Given the description of an element on the screen output the (x, y) to click on. 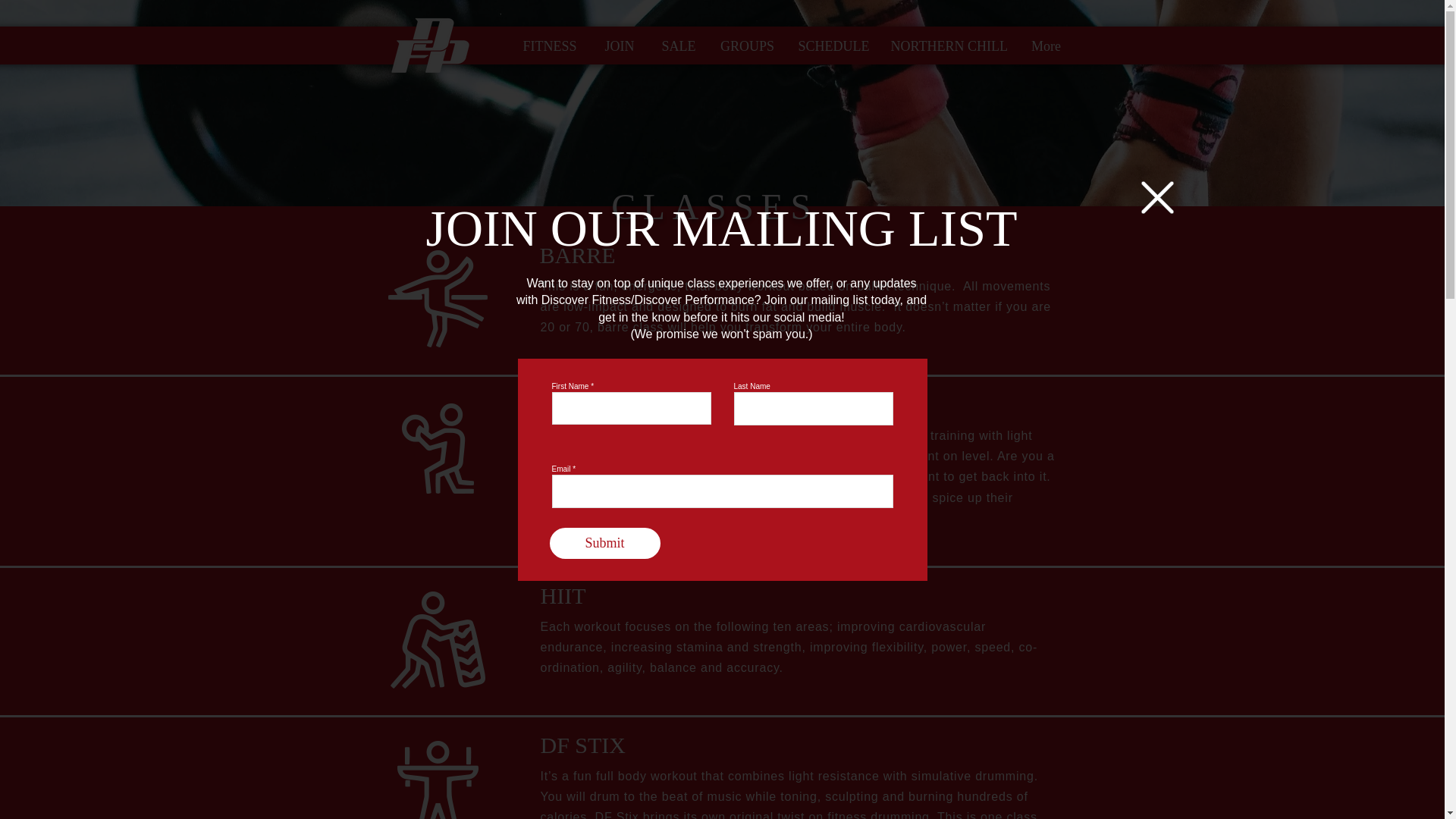
SCHEDULE (831, 46)
NORTHERN CHILL (945, 46)
FITNESS (549, 46)
Back to site (1156, 196)
Submit (603, 542)
